Given the description of an element on the screen output the (x, y) to click on. 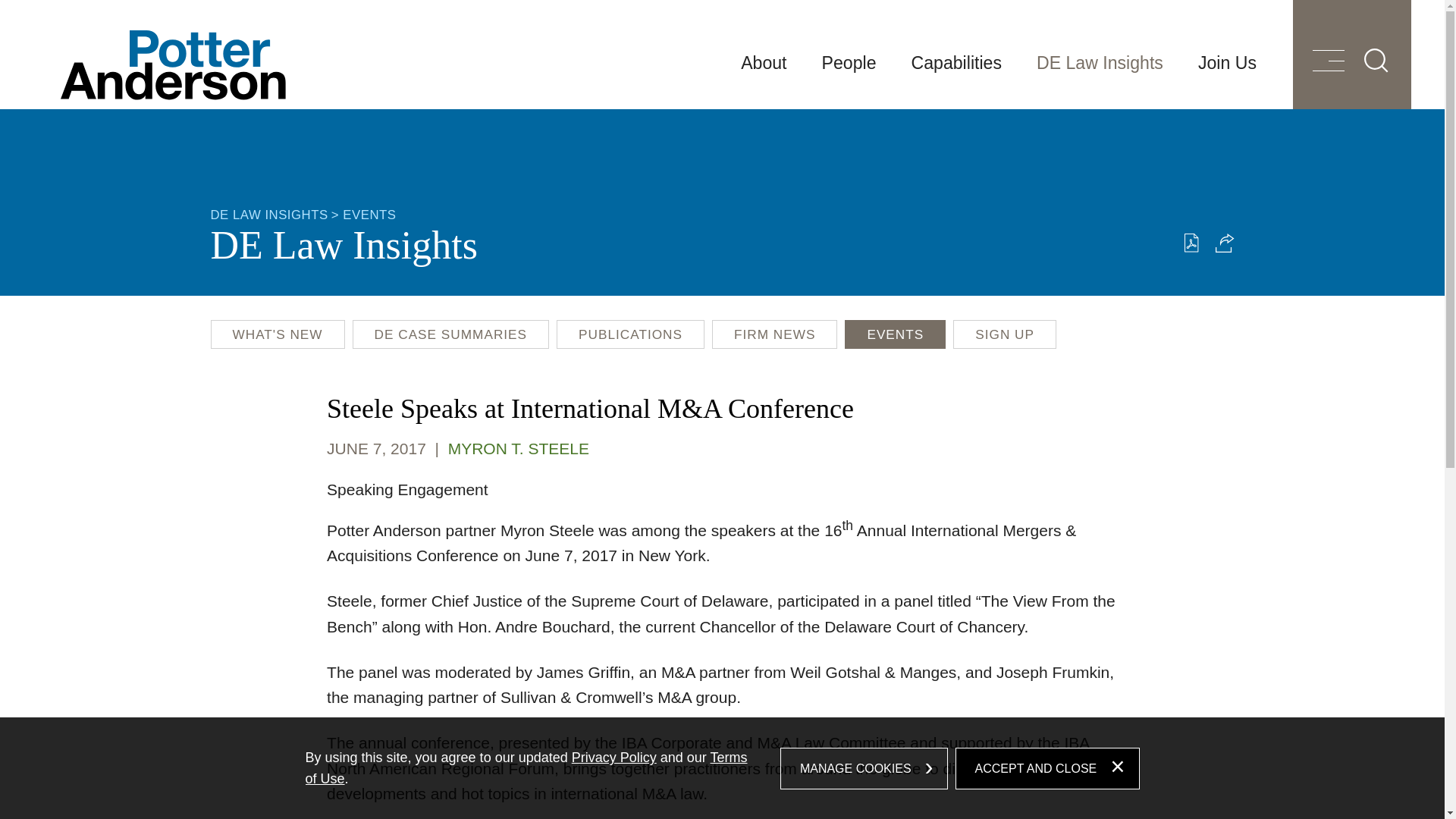
Main Content (663, 20)
Main Menu (671, 20)
Menu (1328, 62)
Menu (671, 20)
About (763, 63)
DE Law Insights (1099, 63)
Cookie Settings (655, 20)
Join Us (1227, 63)
Search (1376, 60)
Capabilities (956, 63)
People (849, 63)
Share (1223, 242)
